Given the description of an element on the screen output the (x, y) to click on. 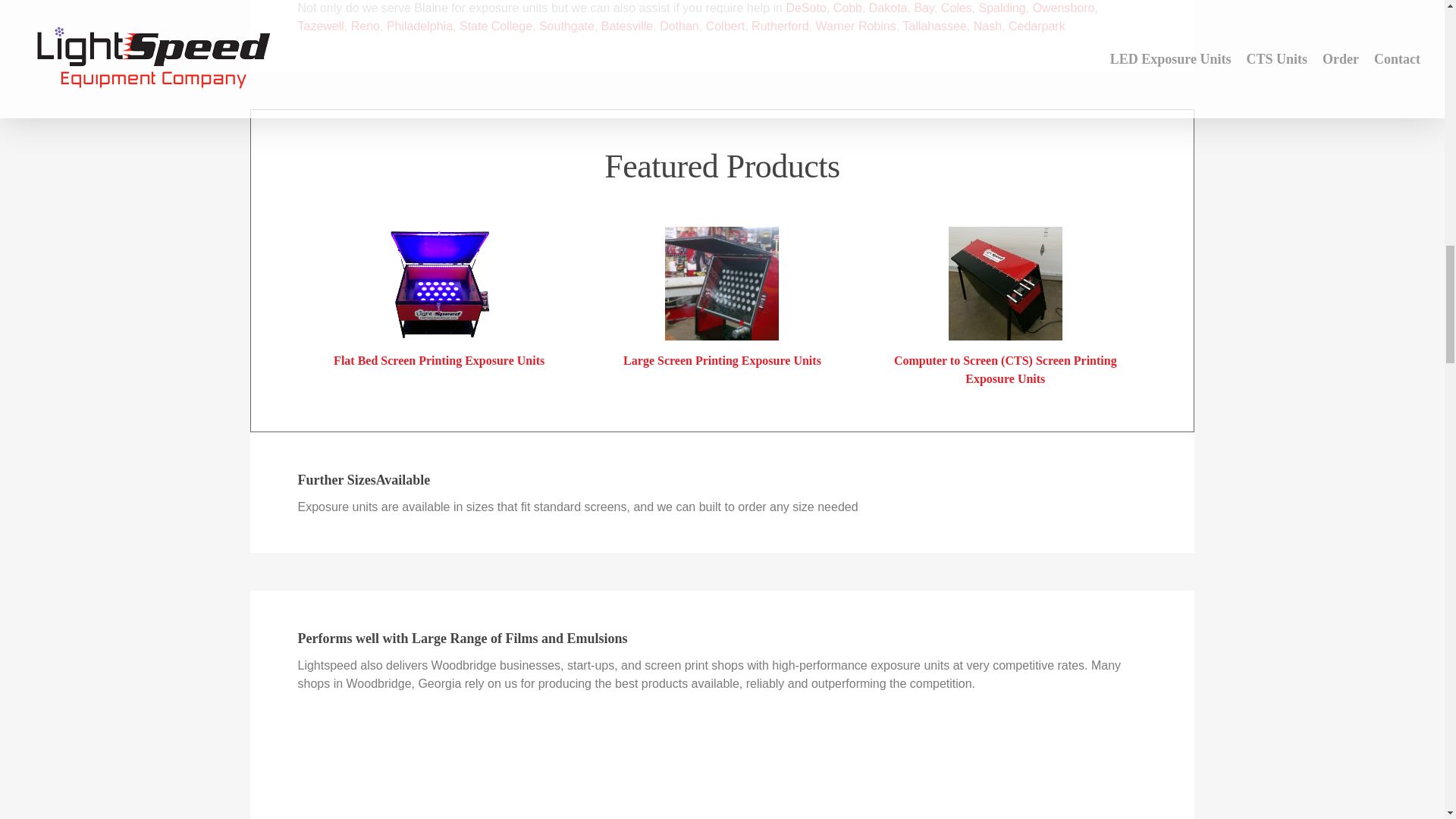
Bay (923, 7)
Tallahassee (934, 25)
Reno (365, 25)
Southgate (566, 25)
Cobb (846, 7)
Flat Bed Screen Printing Exposure Units (438, 359)
Warner Robins (855, 25)
Large Screen Printing Exposure Units (722, 359)
DeSoto (805, 7)
Coles (956, 7)
Cedarpark (1037, 25)
Spalding (1001, 7)
Batesville (626, 25)
Nash (987, 25)
Dothan (678, 25)
